Given the description of an element on the screen output the (x, y) to click on. 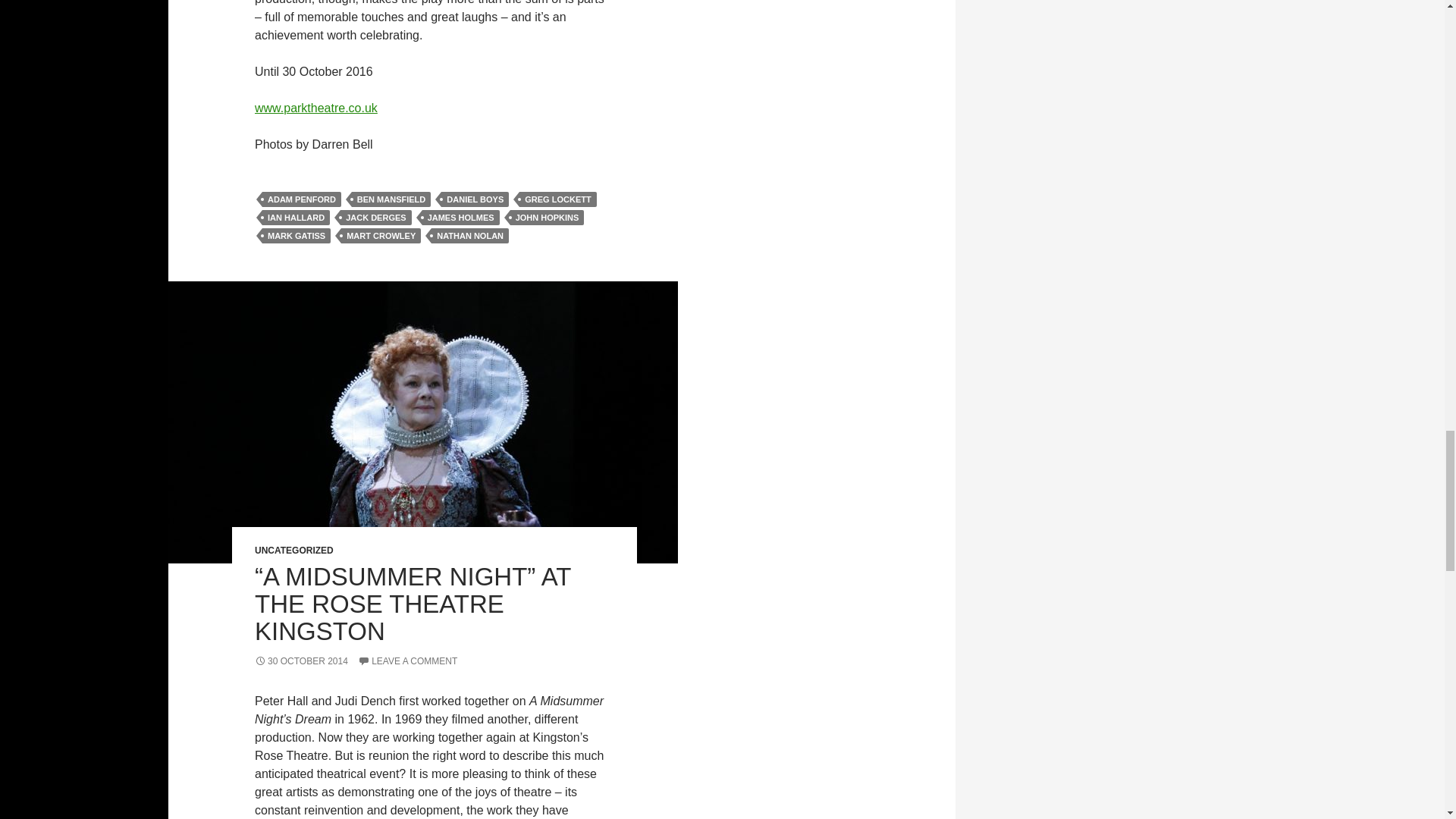
JACK DERGES (375, 217)
NATHAN NOLAN (469, 235)
30 OCTOBER 2014 (300, 661)
ADAM PENFORD (301, 199)
JOHN HOPKINS (548, 217)
IAN HALLARD (296, 217)
www.parktheatre.co.uk (315, 107)
BEN MANSFIELD (391, 199)
LEAVE A COMMENT (407, 661)
MARK GATISS (296, 235)
MART CROWLEY (380, 235)
UNCATEGORIZED (293, 550)
DANIEL BOYS (474, 199)
GREG LOCKETT (557, 199)
JAMES HOLMES (460, 217)
